Given the description of an element on the screen output the (x, y) to click on. 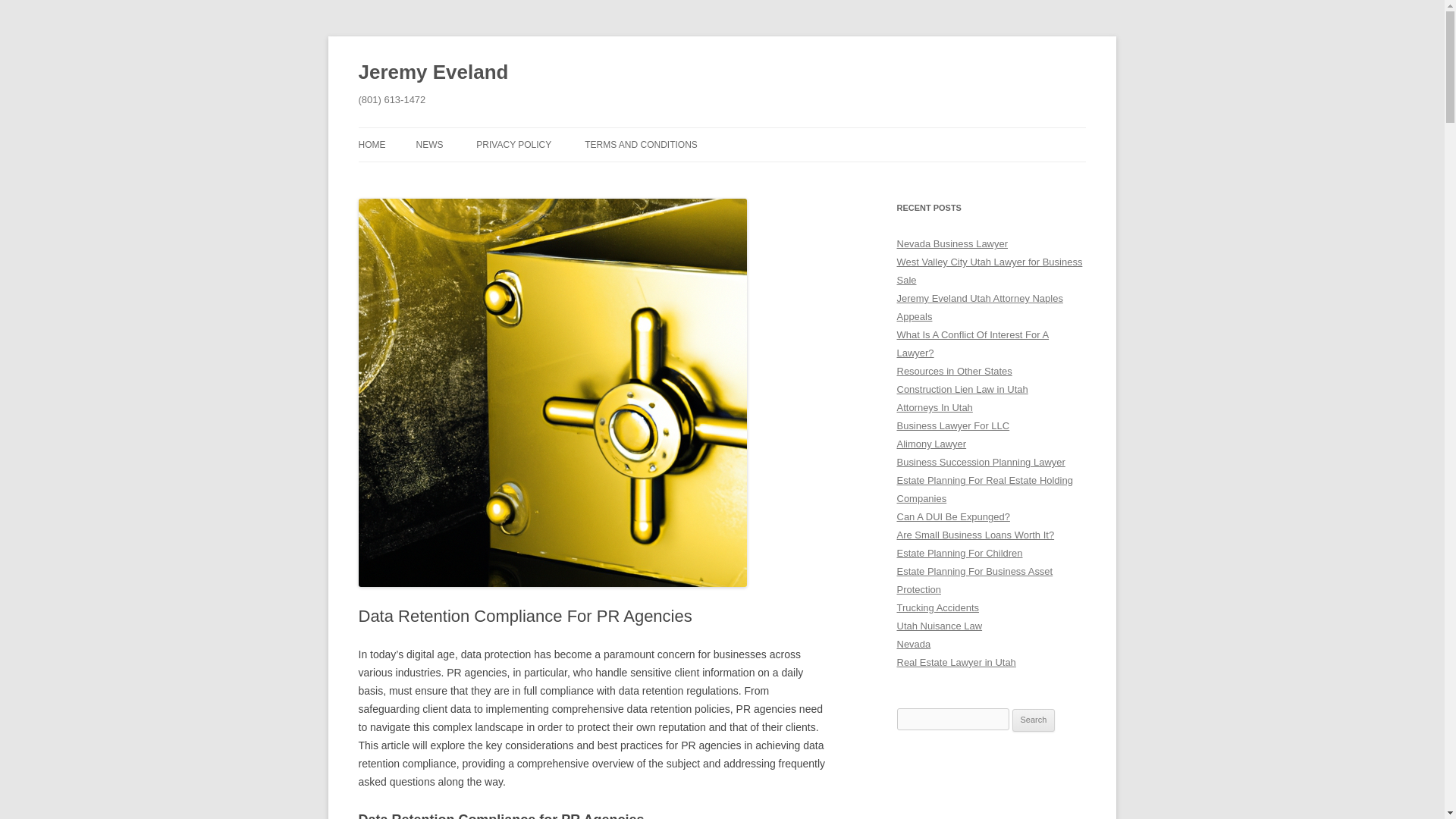
TERMS AND CONDITIONS (641, 144)
Search (1033, 720)
Are Small Business Loans Worth It? (975, 534)
Estate Planning For Children (959, 552)
Can A DUI Be Expunged? (952, 516)
Utah Nuisance Law (938, 625)
Real Estate Lawyer in Utah (955, 662)
Nevada Business Lawyer (951, 243)
Construction Lien Law in Utah (961, 389)
Jeremy Eveland (433, 72)
